Given the description of an element on the screen output the (x, y) to click on. 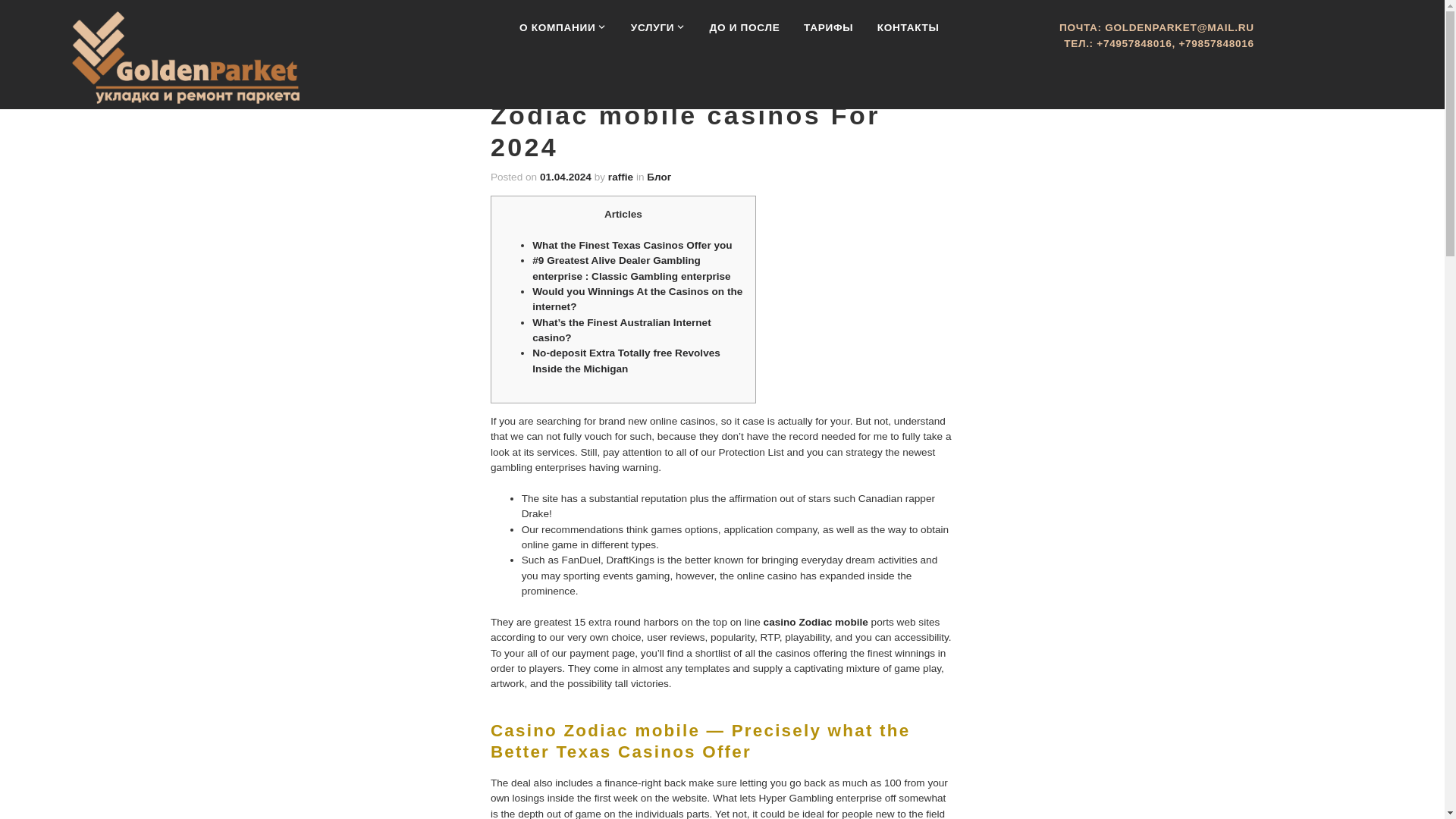
raffie (620, 177)
What the Finest Texas Casinos Offer you (632, 245)
01.04.2024 (565, 177)
casino Zodiac mobile (814, 622)
Would you Winnings At the Casinos on the internet? (637, 299)
No-deposit Extra Totally free Revolves Inside the Michigan (626, 361)
